Given the description of an element on the screen output the (x, y) to click on. 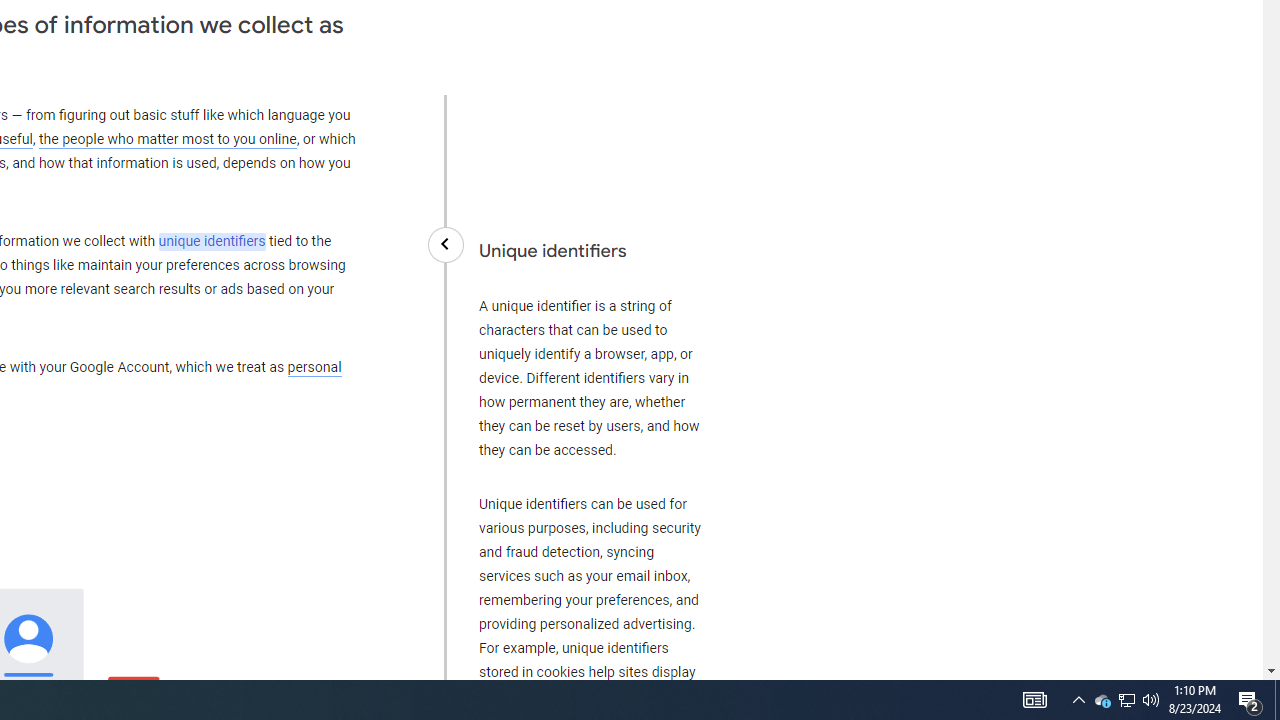
unique identifiers (211, 241)
the people who matter most to you online (167, 139)
